Given the description of an element on the screen output the (x, y) to click on. 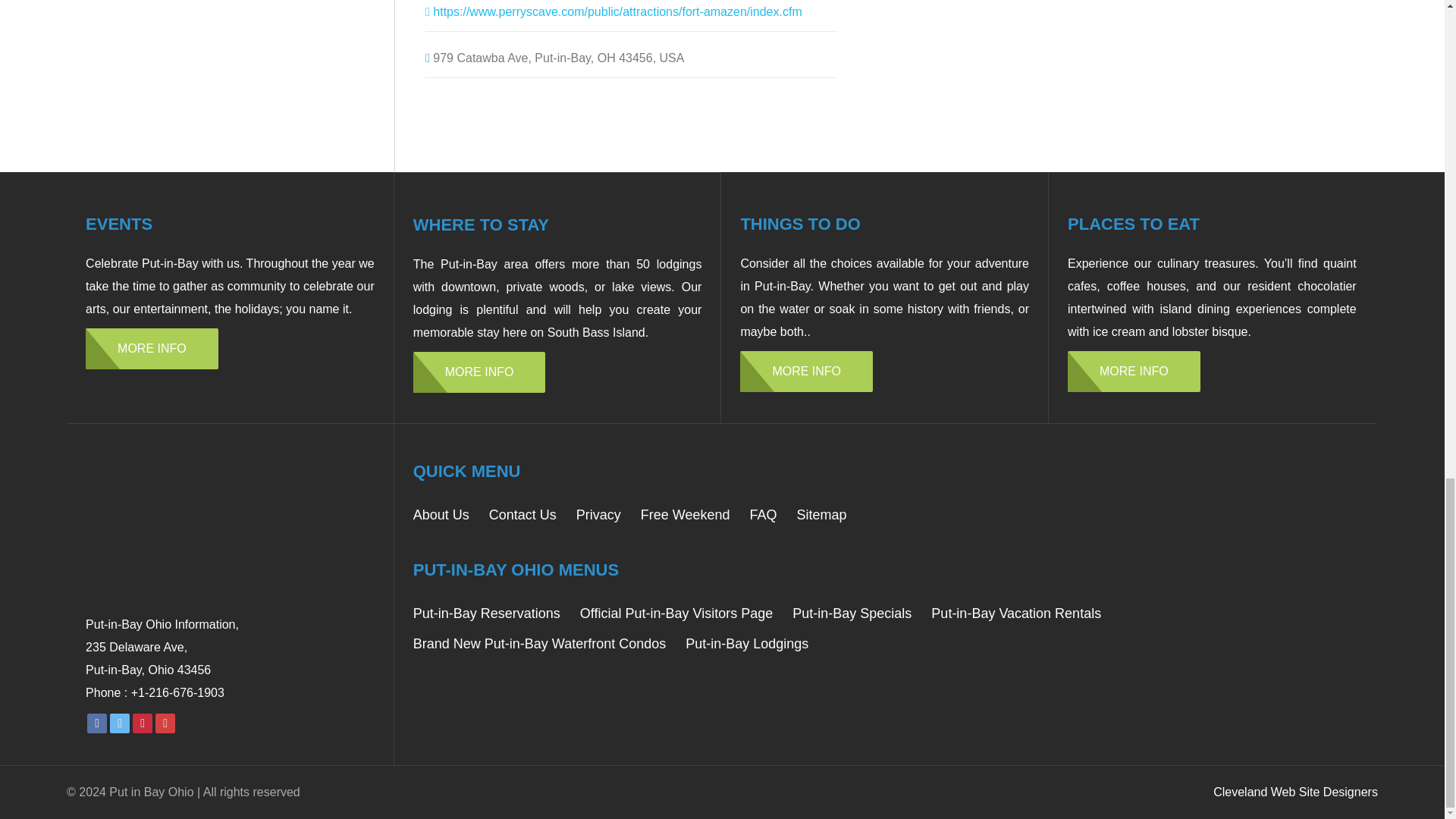
Cleveland Web Site Designers (1294, 791)
YouTube page opens in new window (164, 722)
Pinterest page opens in new window (142, 722)
Facebook page opens in new window (96, 722)
X page opens in new window (119, 722)
